Given the description of an element on the screen output the (x, y) to click on. 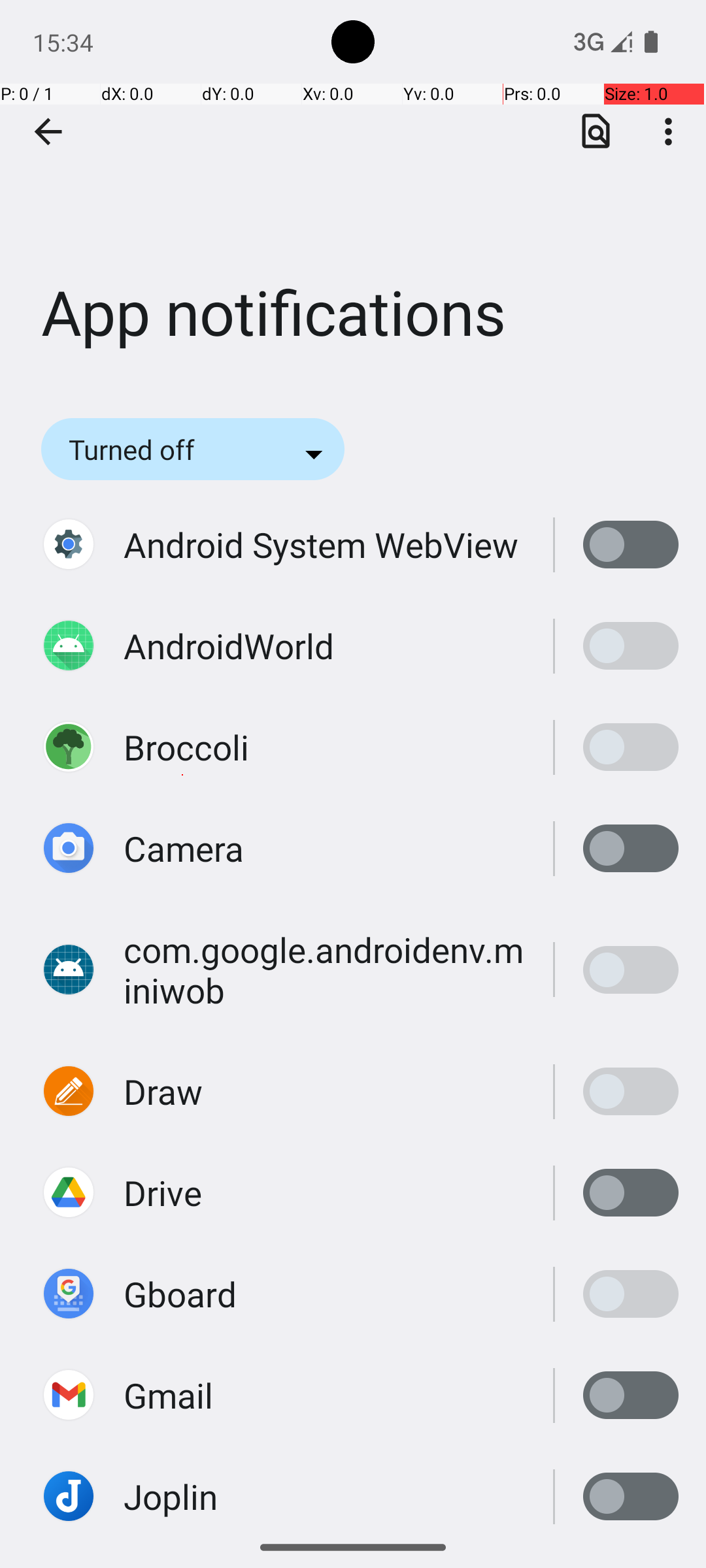
Turned off Element type: android.widget.TextView (149, 448)
com.google.androidenv.miniwob Element type: android.widget.TextView (324, 969)
Gboard Element type: android.widget.TextView (179, 1293)
